Given the description of an element on the screen output the (x, y) to click on. 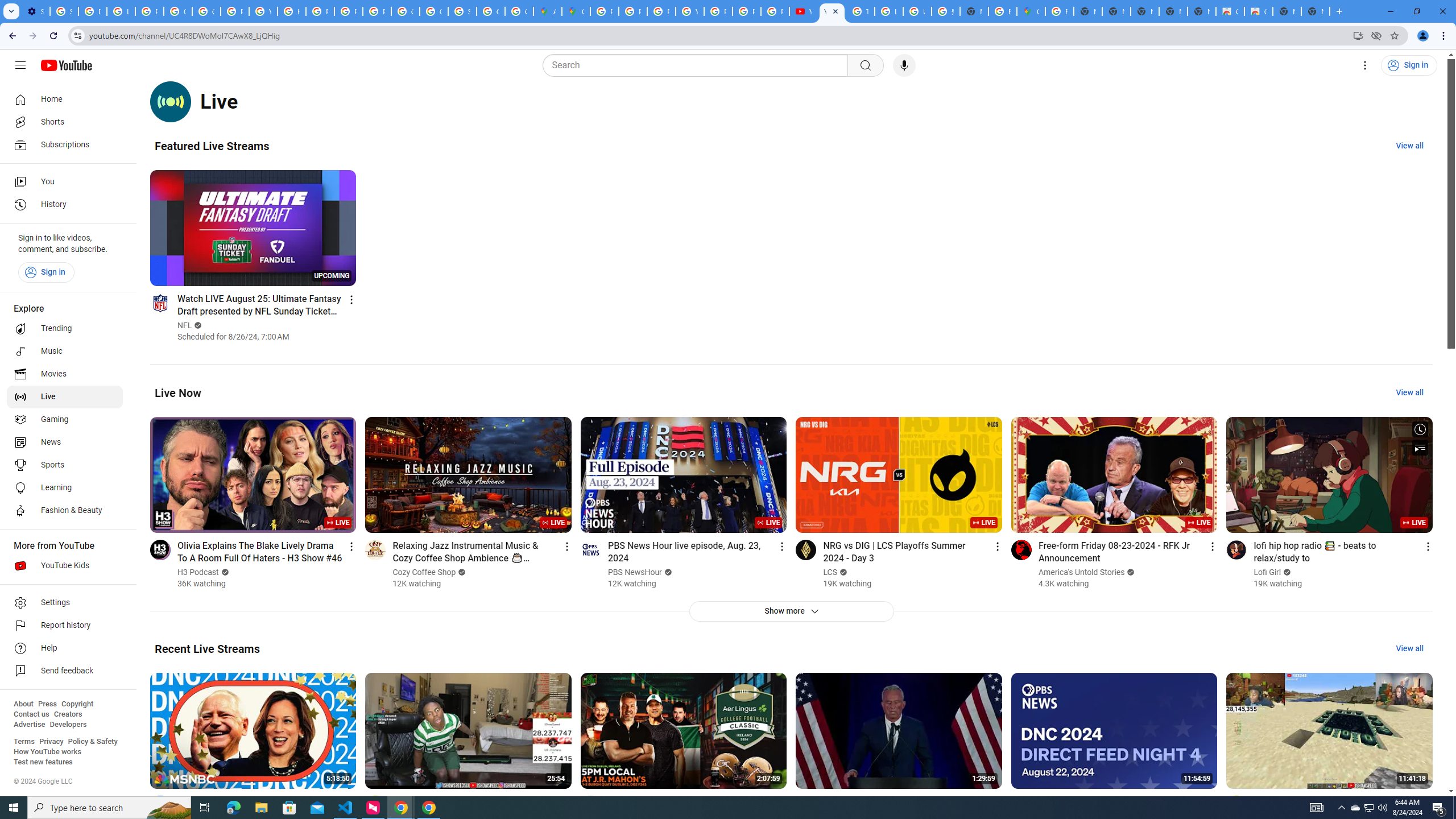
Tips & tricks for Chrome - Google Chrome Help (860, 11)
Subscriptions (64, 144)
Cozy Coffee Shop (425, 572)
Privacy (51, 741)
Fashion & Beauty (64, 510)
Sports (64, 464)
LCS (830, 572)
Sign in - Google Accounts (63, 11)
